Given the description of an element on the screen output the (x, y) to click on. 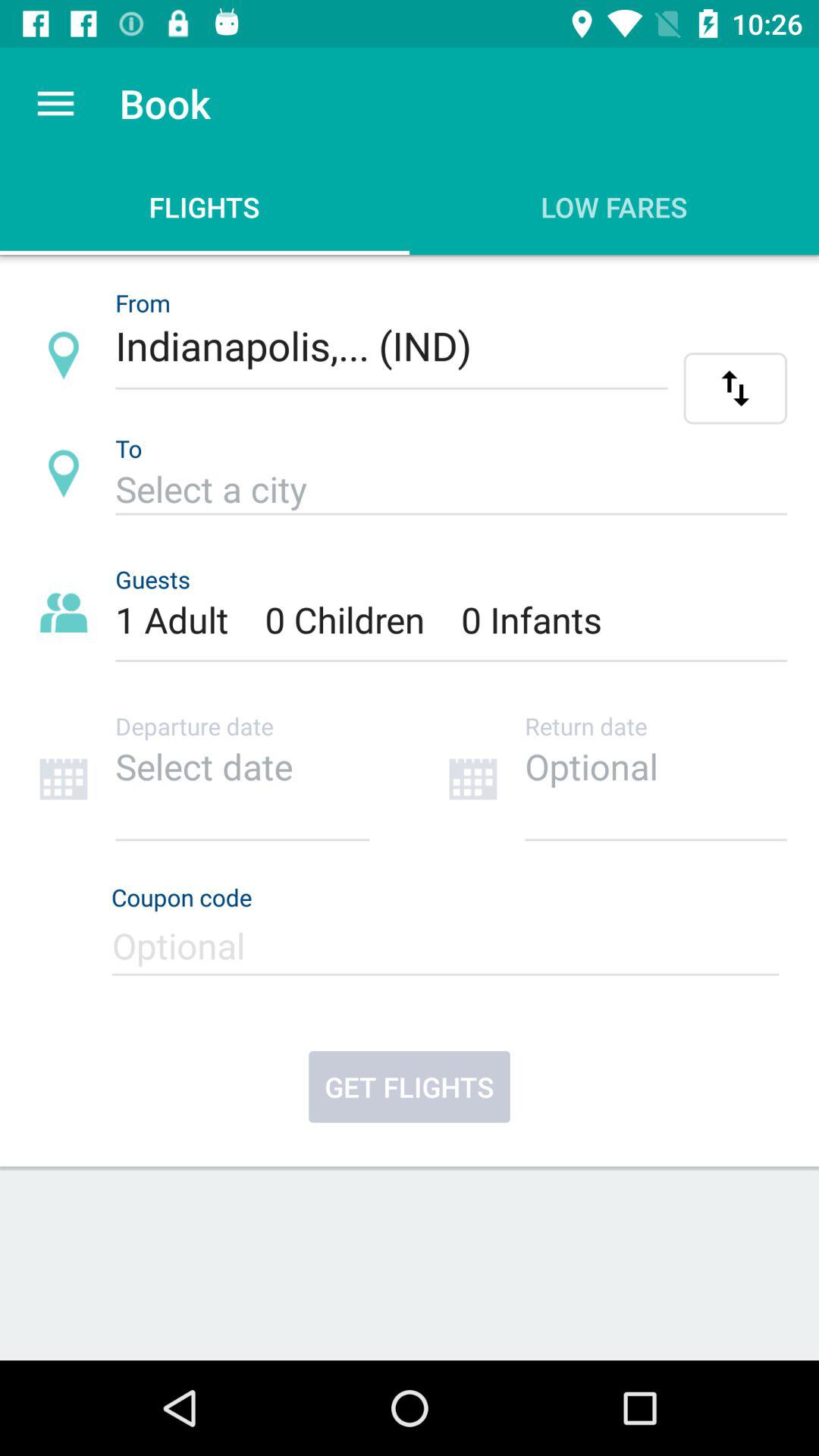
enter a coupon code (449, 952)
